Given the description of an element on the screen output the (x, y) to click on. 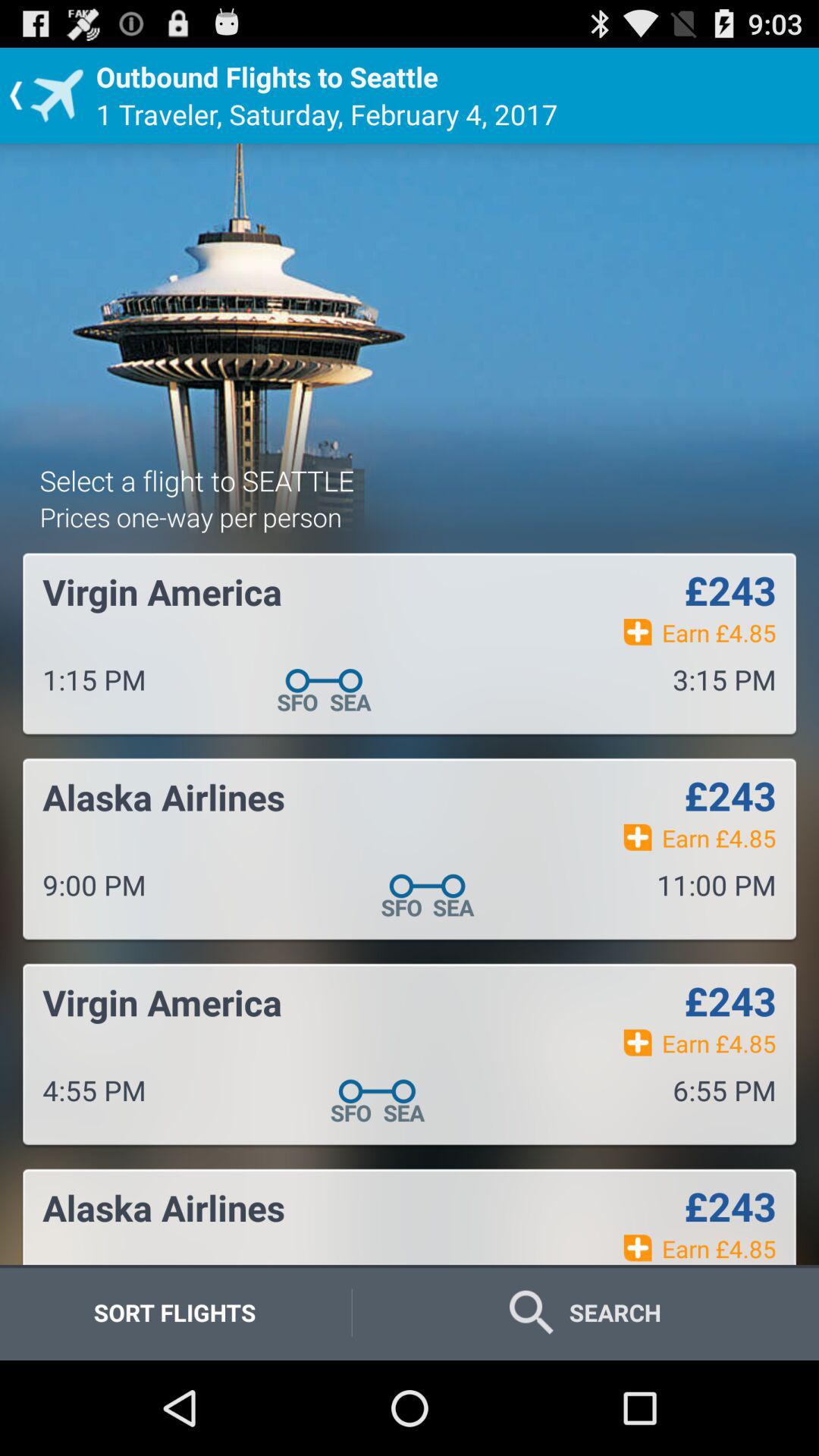
click on search button (585, 1312)
